Given the description of an element on the screen output the (x, y) to click on. 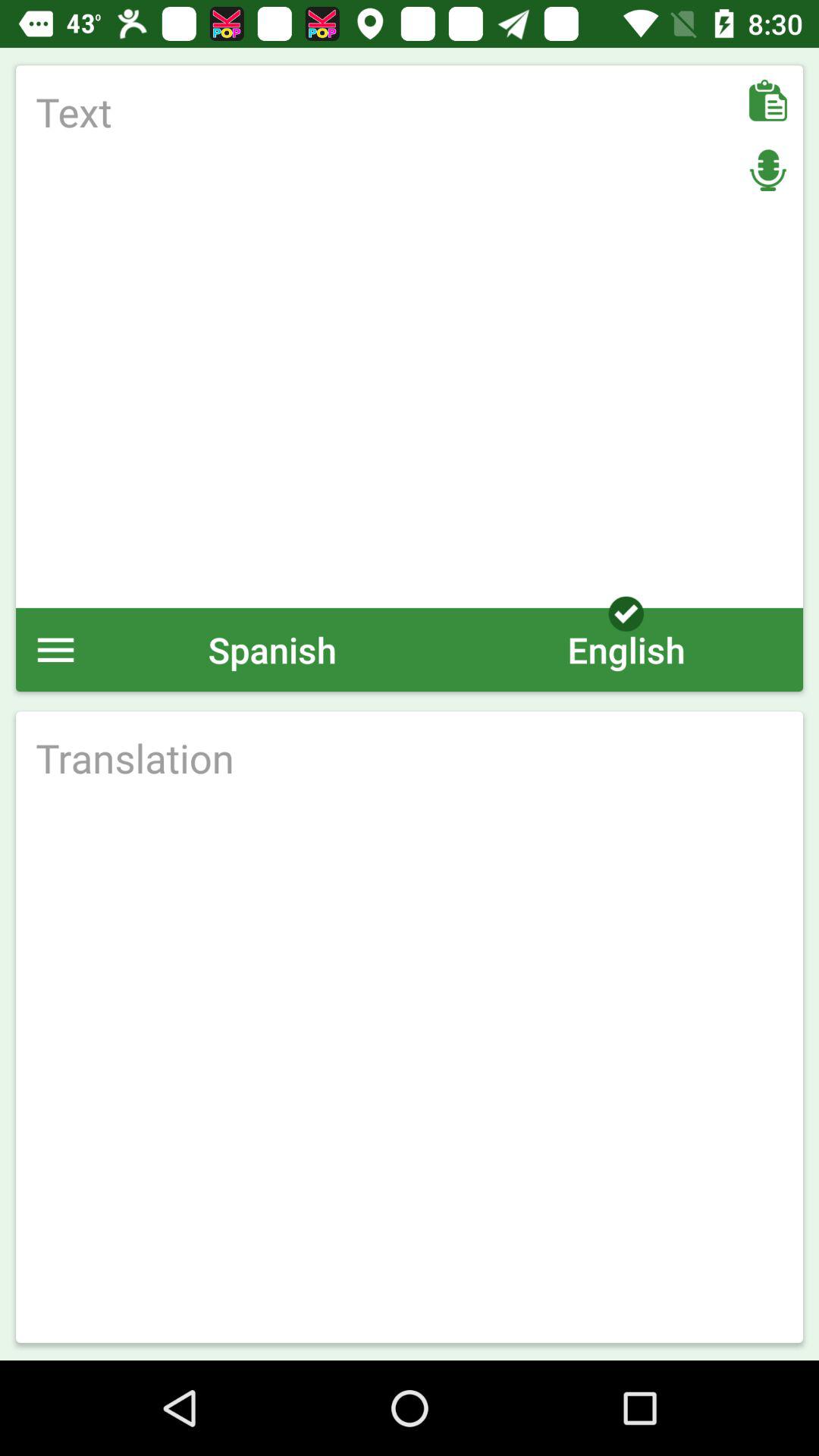
this button is used to transcribe the word (409, 757)
